Given the description of an element on the screen output the (x, y) to click on. 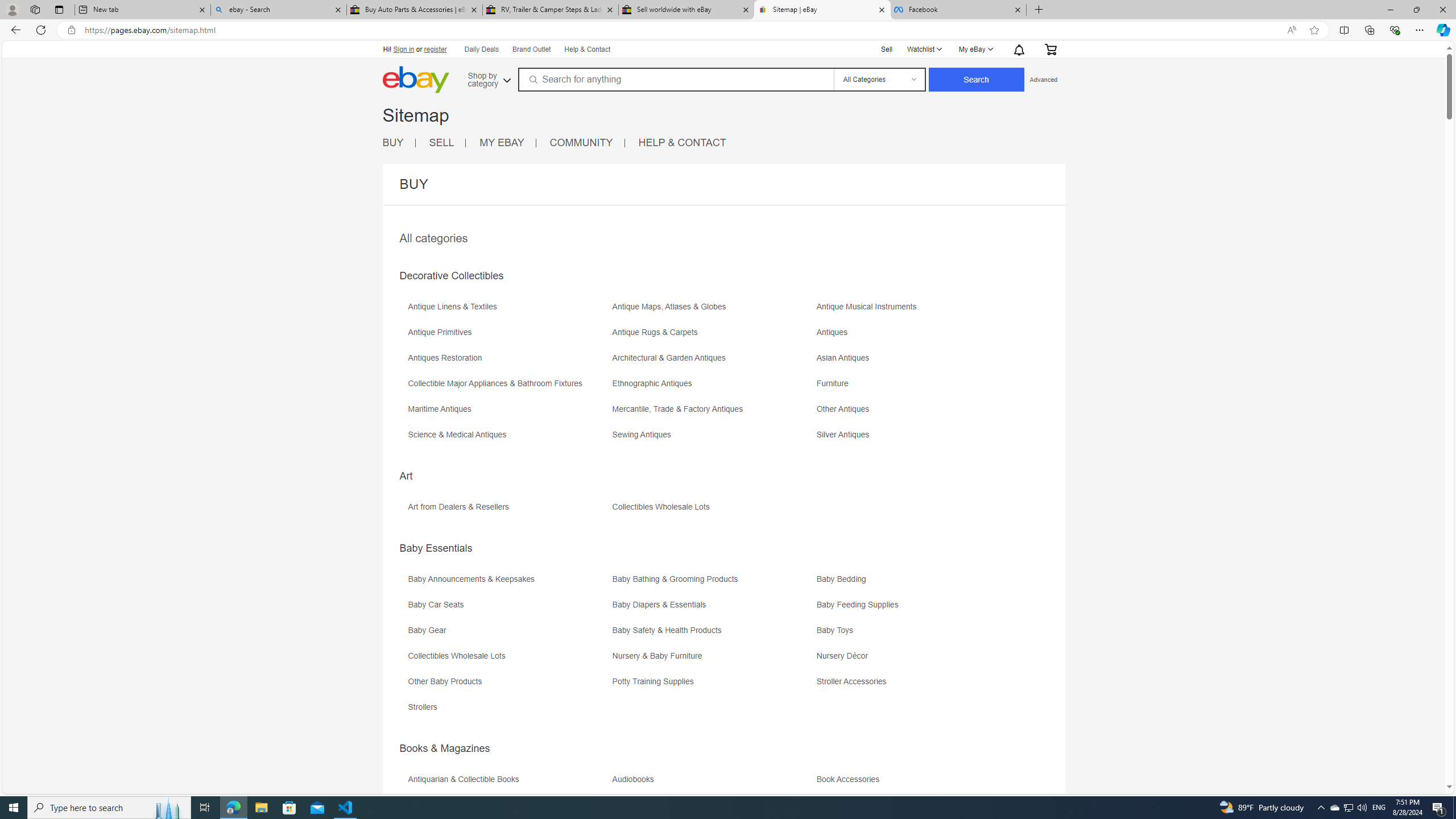
Potty Training Supplies (712, 685)
Collectibles Wholesale Lots (508, 659)
Sewing Antiques (644, 434)
Other Baby Products (508, 685)
Baby Bedding (844, 579)
Collectible Major Appliances & Bathroom Fixtures (508, 387)
Maritime Antiques (508, 412)
Ethnographic Antiques (654, 383)
Ethnographic Antiques (712, 387)
Science & Medical Antiques (508, 438)
Book Accessories (917, 783)
Baby Announcements & Keepsakes (508, 582)
Antiques (917, 336)
